Given the description of an element on the screen output the (x, y) to click on. 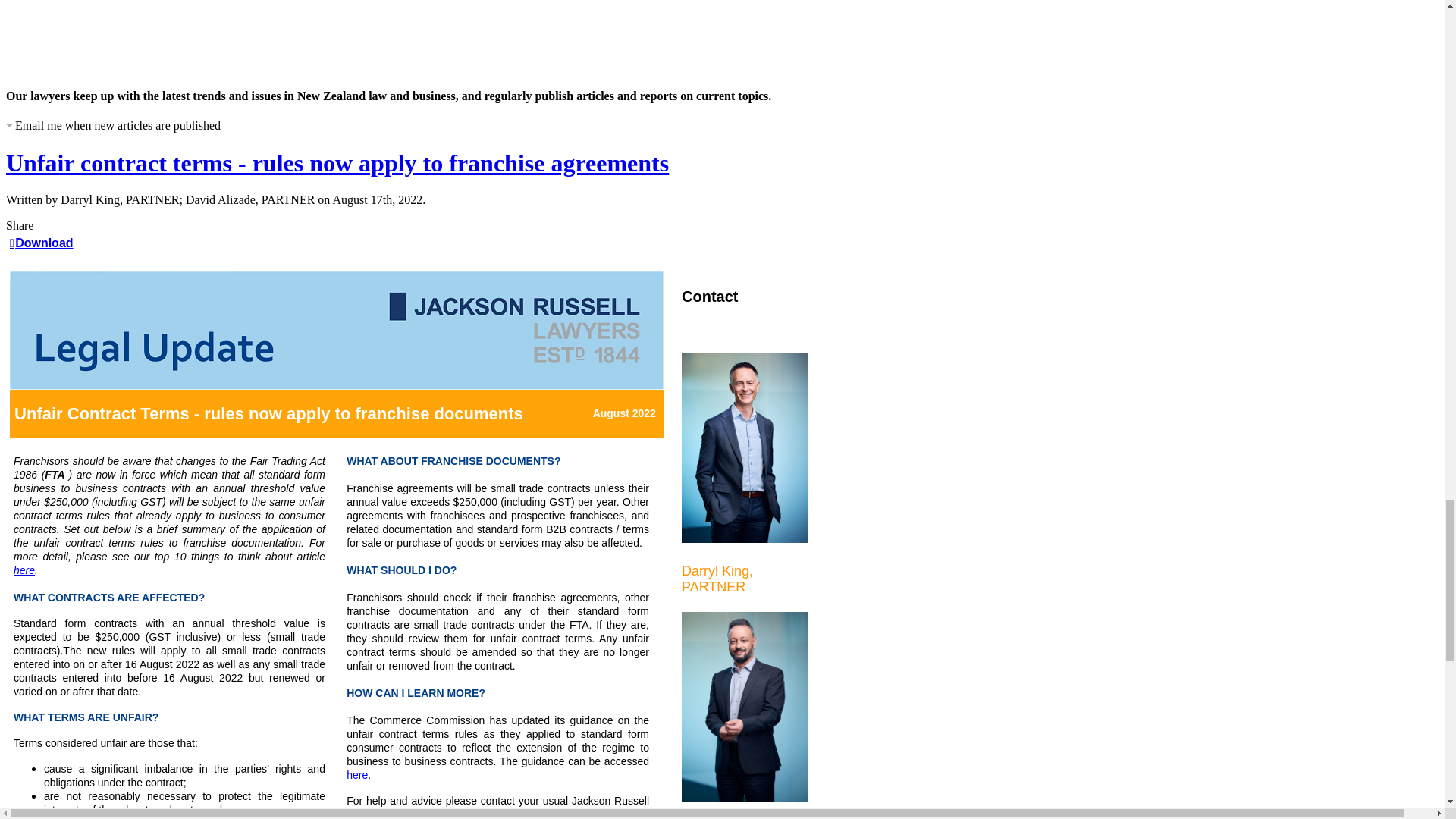
Legal UpdatePNG (336, 330)
